Given the description of an element on the screen output the (x, y) to click on. 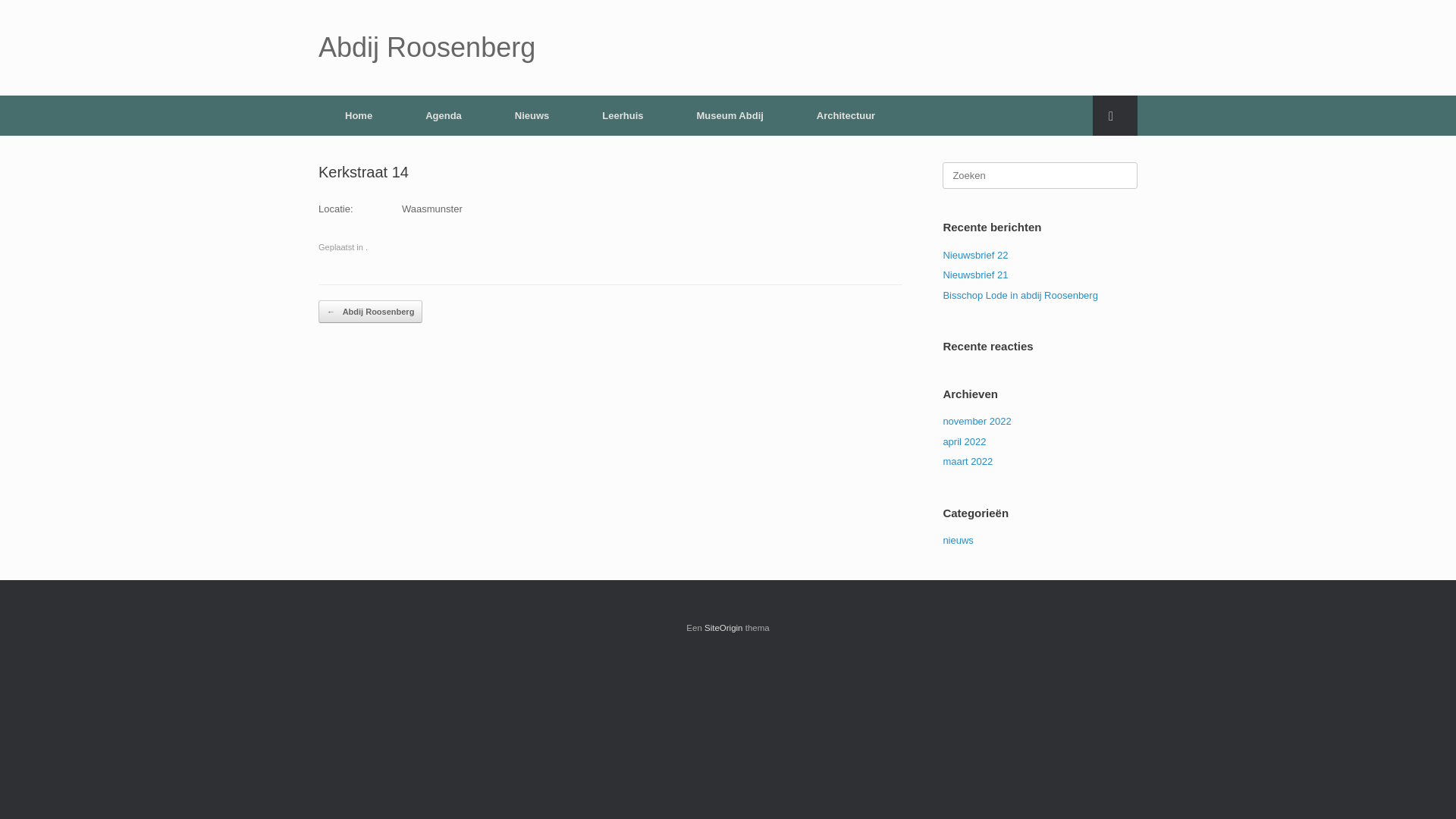
Home Element type: text (358, 115)
Architectuur Element type: text (845, 115)
april 2022 Element type: text (963, 440)
Museum Abdij Element type: text (730, 115)
november 2022 Element type: text (976, 420)
Nieuwsbrief 22 Element type: text (974, 254)
nieuws Element type: text (957, 540)
SiteOrigin Element type: text (723, 627)
Nieuws Element type: text (532, 115)
Nieuwsbrief 21 Element type: text (974, 274)
Abdij Roosenberg Element type: text (426, 47)
Bisschop Lode in abdij Roosenberg Element type: text (1020, 295)
Agenda Element type: text (443, 115)
maart 2022 Element type: text (967, 461)
Leerhuis Element type: text (622, 115)
